Given the description of an element on the screen output the (x, y) to click on. 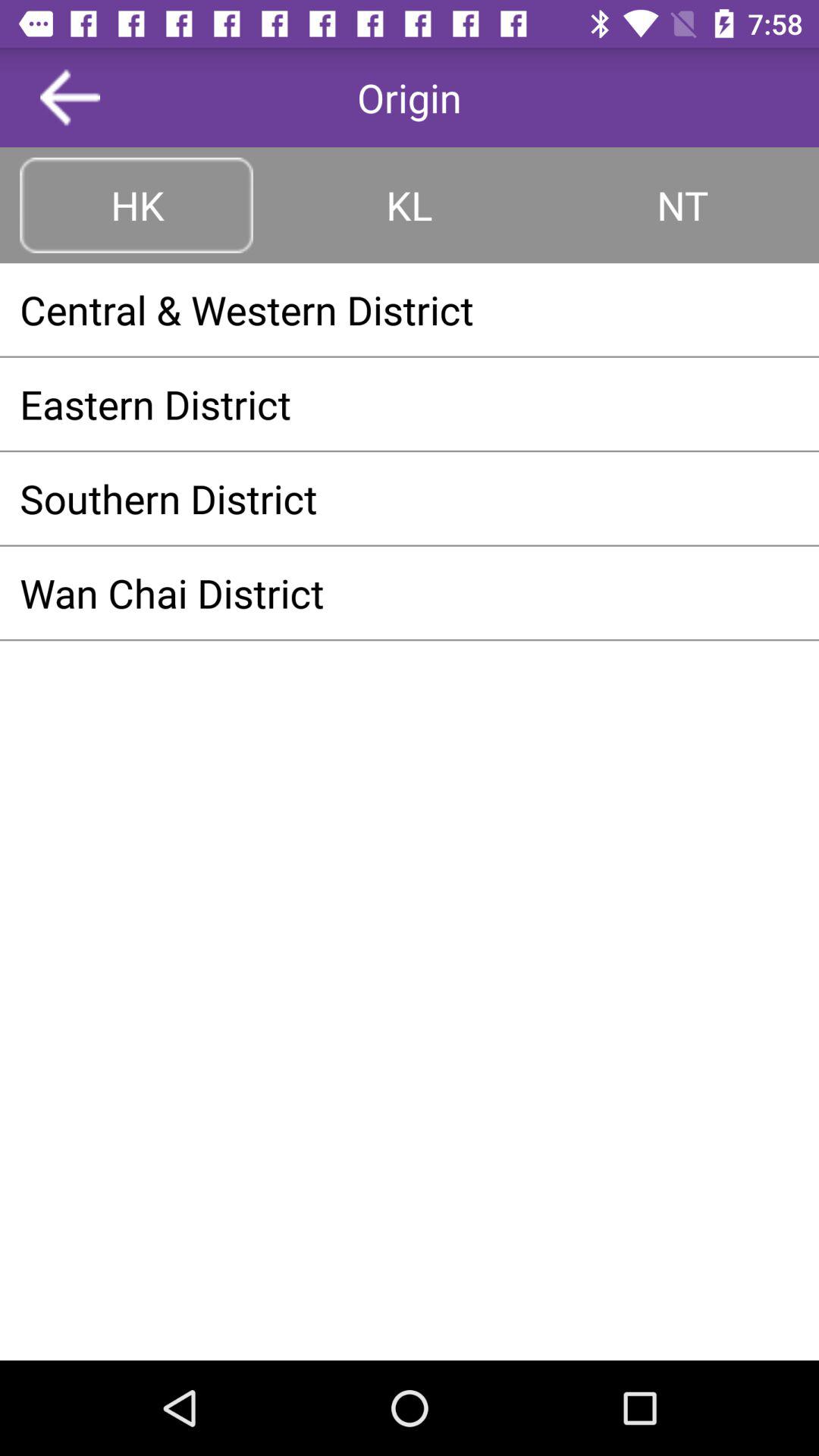
launch the icon to the left of the origin app (69, 97)
